Given the description of an element on the screen output the (x, y) to click on. 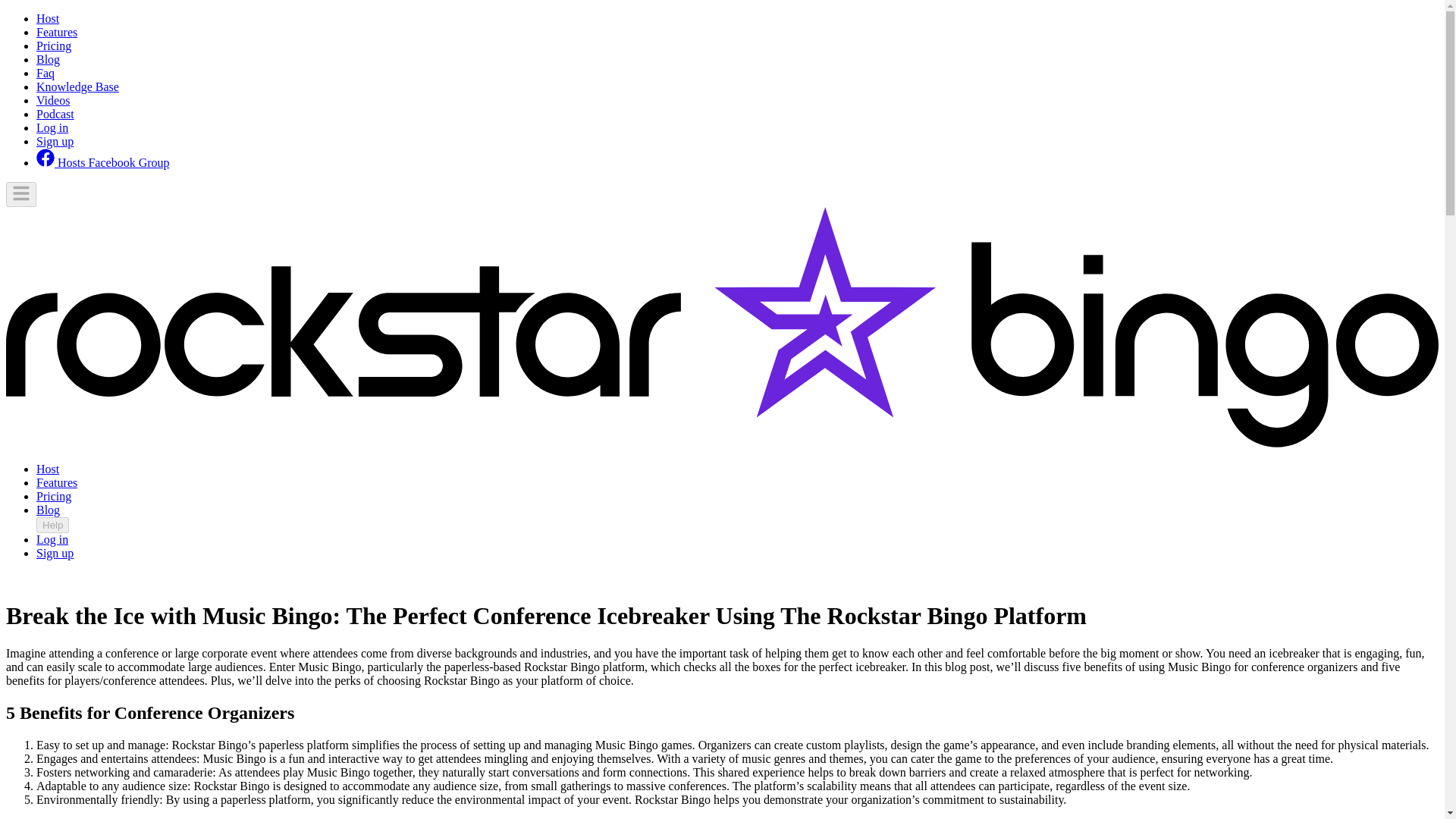
Hosts Facebook Group (103, 162)
Videos (52, 100)
Podcast (55, 113)
Faq (45, 72)
Host (47, 468)
Pricing (53, 495)
Sign up (55, 553)
Pricing (53, 45)
Features (56, 31)
Host (47, 18)
